Given the description of an element on the screen output the (x, y) to click on. 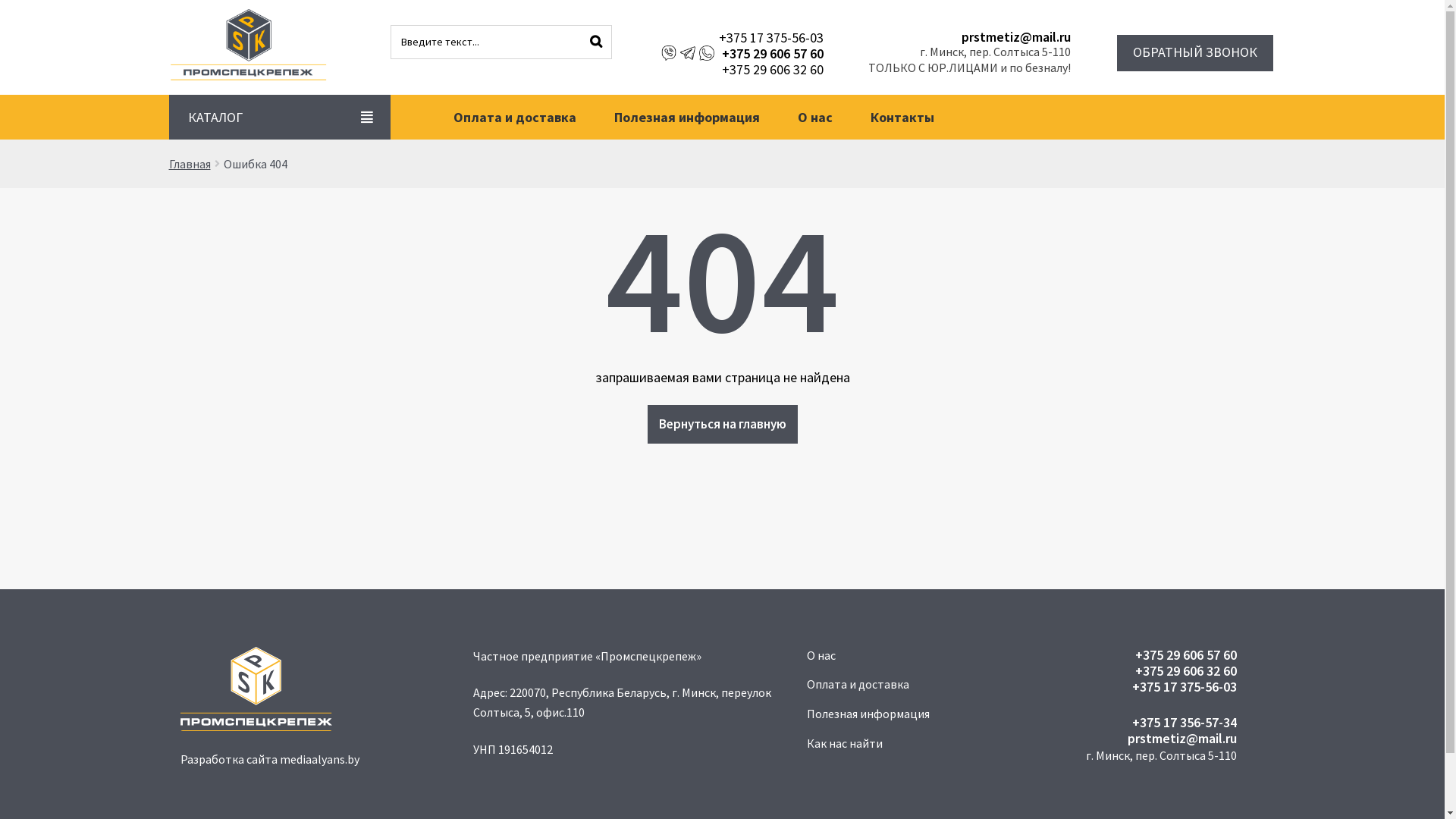
+375 29 606 32 60 Element type: text (1160, 670)
+375 29 606 57 60 Element type: text (772, 53)
prstmetiz@mail.ru Element type: text (969, 36)
prstmetiz@mail.ru Element type: text (1160, 738)
+375 29 606 57 60 Element type: text (1160, 654)
+375 17 356-57-34 Element type: text (1160, 722)
+375 17 375-56-03 Element type: text (742, 37)
+375 29 606 32 60 Element type: text (742, 69)
mediaalyans.by Element type: text (318, 758)
+375 17 375-56-03 Element type: text (1160, 686)
